Given the description of an element on the screen output the (x, y) to click on. 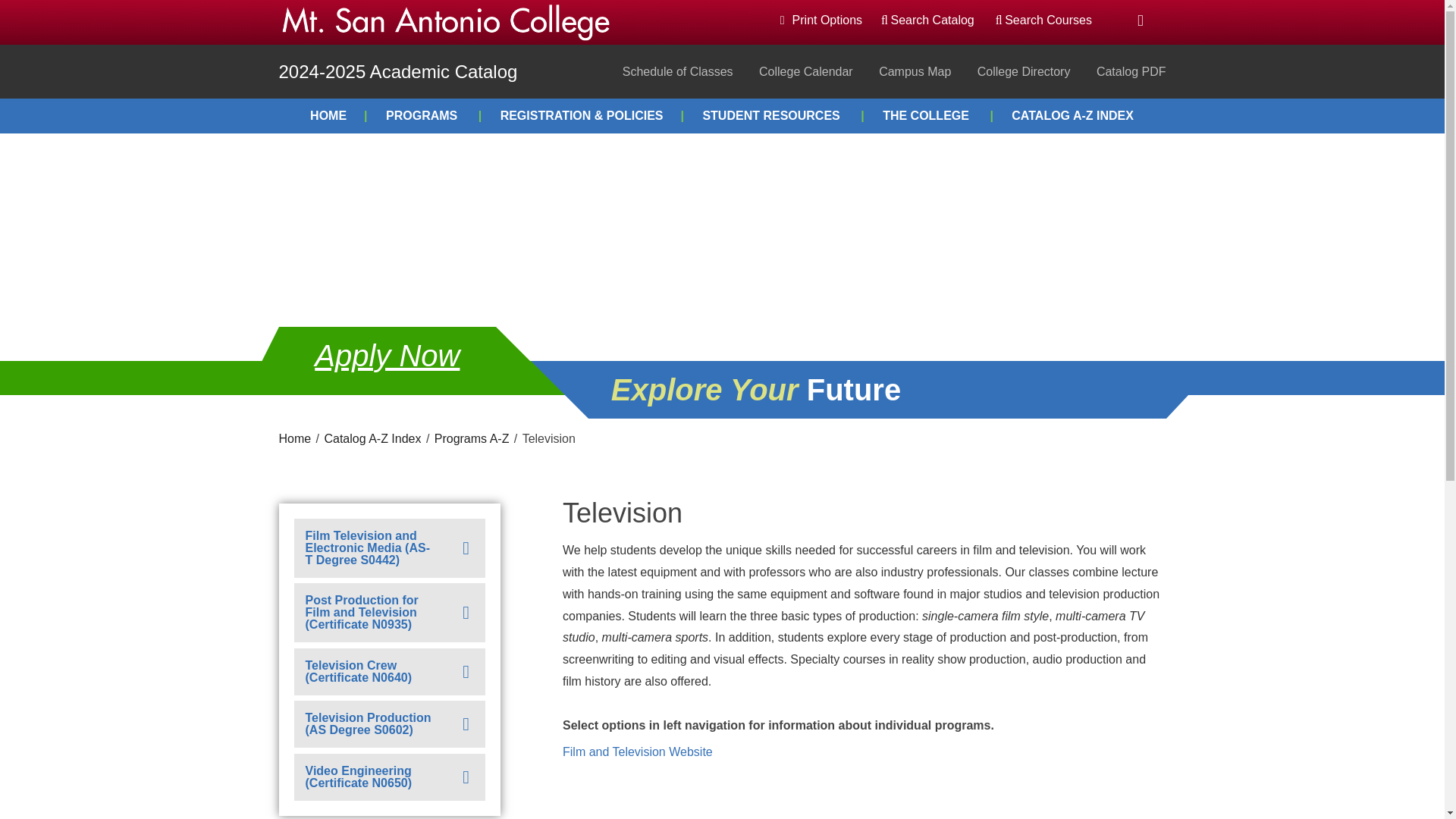
Search Catalog (927, 20)
College Directory (1023, 71)
Schedule of Classes (678, 71)
PROGRAMS (433, 115)
2024-2025 Academic Catalog (398, 71)
Search (19, 6)
Catalog PDF (1131, 71)
Print Options (820, 20)
College Calendar (805, 71)
Campus Map (914, 71)
Search Courses (1043, 20)
HOME (338, 115)
